Given the description of an element on the screen output the (x, y) to click on. 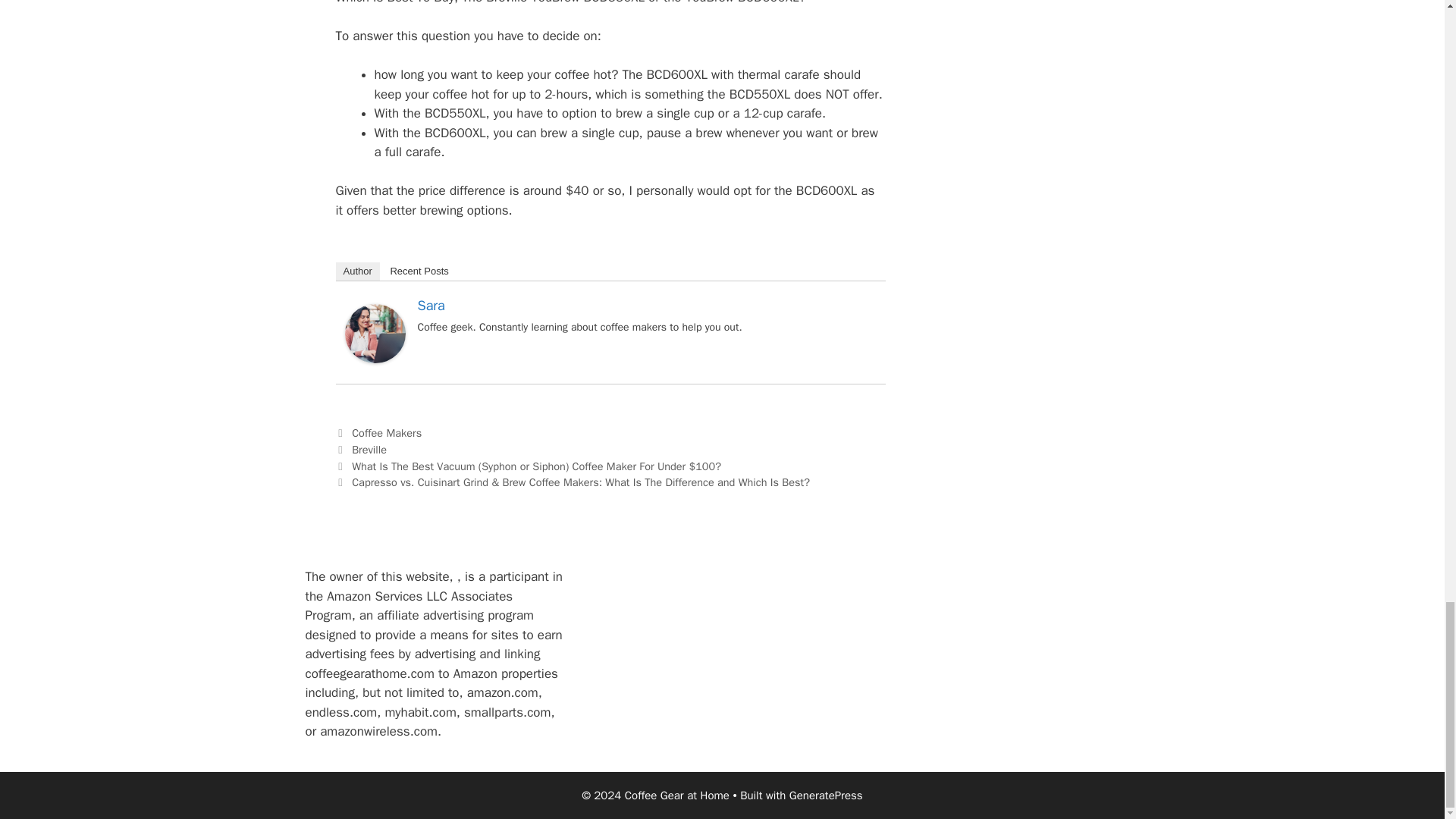
Sara (373, 358)
Recent Posts (418, 271)
Breville (369, 449)
Coffee Makers (387, 432)
Author (356, 271)
Sara (430, 305)
